Given the description of an element on the screen output the (x, y) to click on. 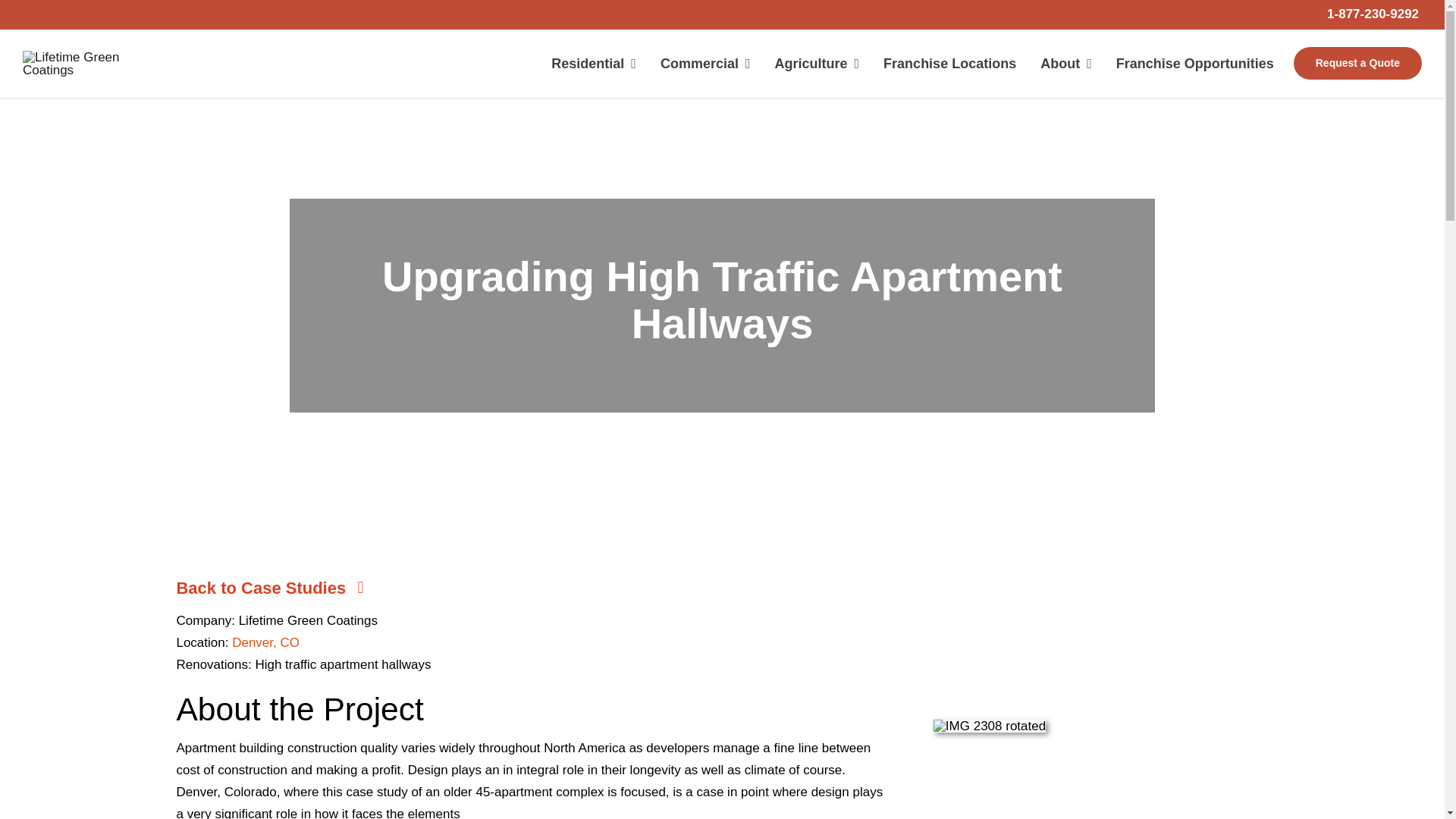
Franchise Locations (949, 63)
Agriculture (817, 63)
1-877-230-9292 (1372, 13)
Back to Case Studies (286, 587)
Franchise Opportunities (1195, 63)
Denver, CO (265, 642)
Request a Quote (1358, 63)
Commercial (705, 63)
C 98 Apartment Hallways 1 (83, 63)
About (1065, 63)
Residential (593, 63)
